Given the description of an element on the screen output the (x, y) to click on. 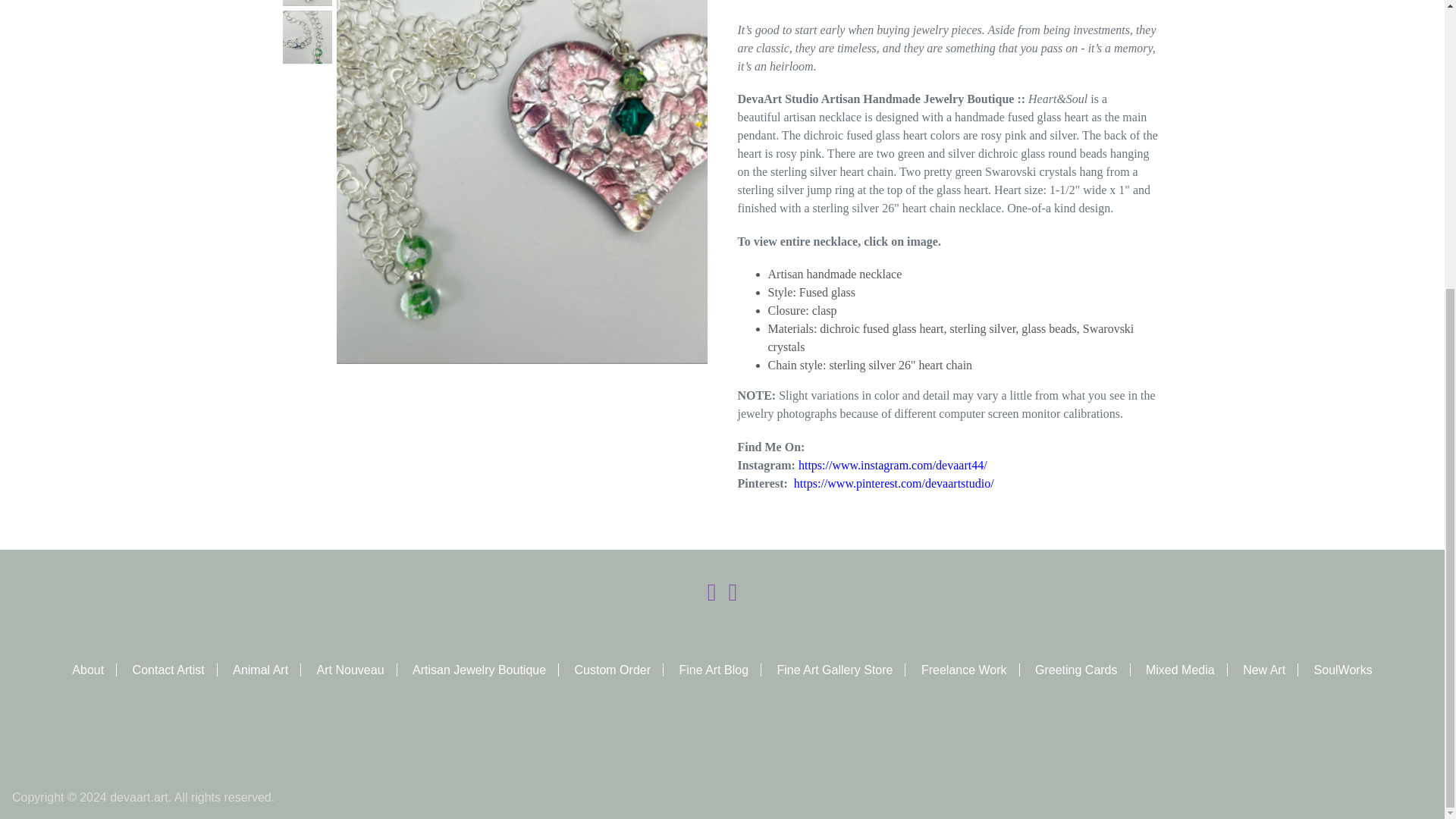
Art Nouveau (357, 669)
SoulWorks (1343, 669)
About (93, 669)
Contact Artist (174, 669)
Animal Art (266, 669)
Mixed Media (1186, 669)
Greeting Cards (1083, 669)
Artisan Jewelry Boutique (485, 669)
Fine Art Blog (719, 669)
New Art (1270, 669)
Freelance Work (970, 669)
Custom Order (619, 669)
Fine Art Gallery Store (841, 669)
